Given the description of an element on the screen output the (x, y) to click on. 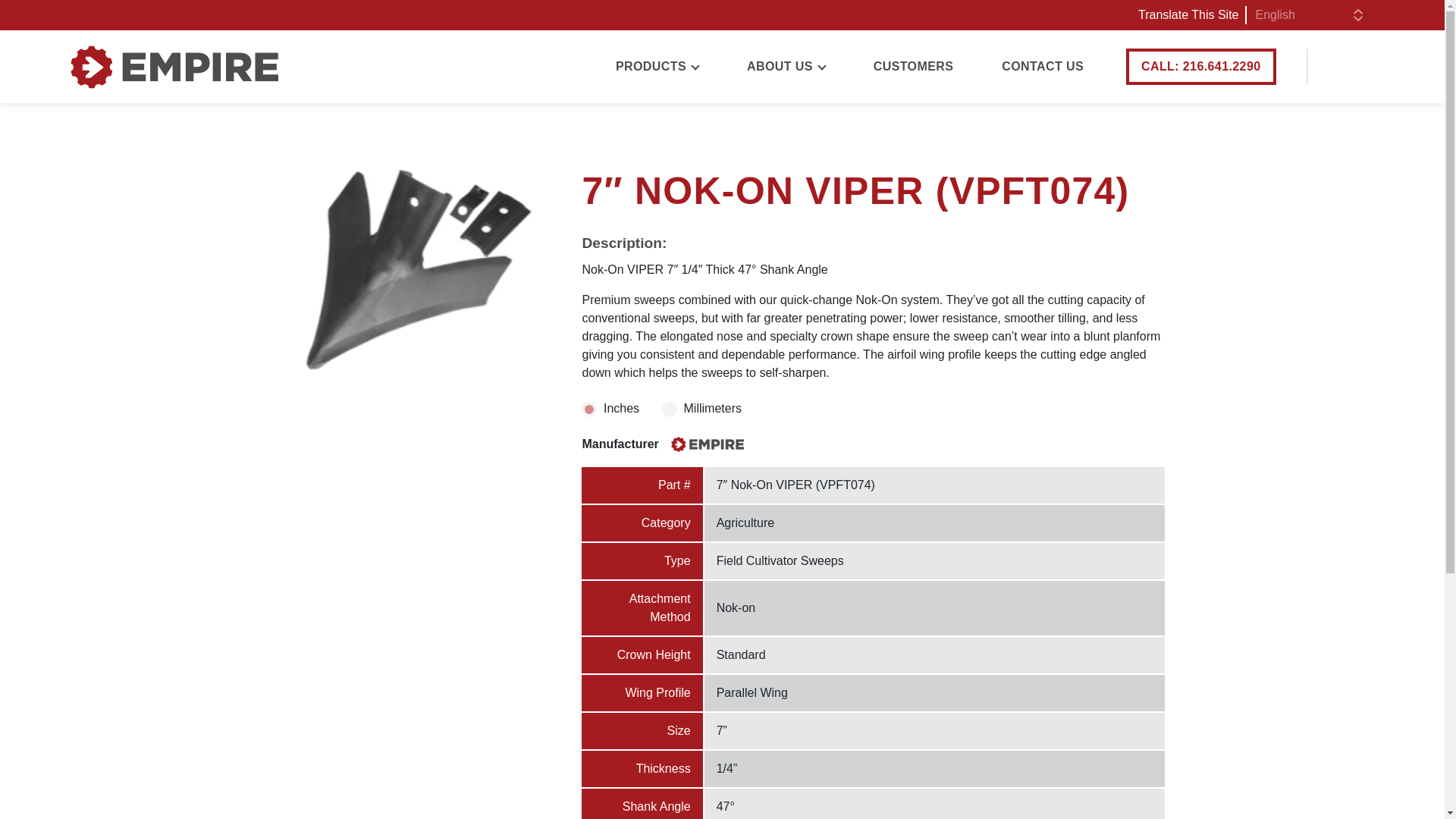
metric (669, 409)
customary (588, 409)
PRODUCTS (656, 66)
